Given the description of an element on the screen output the (x, y) to click on. 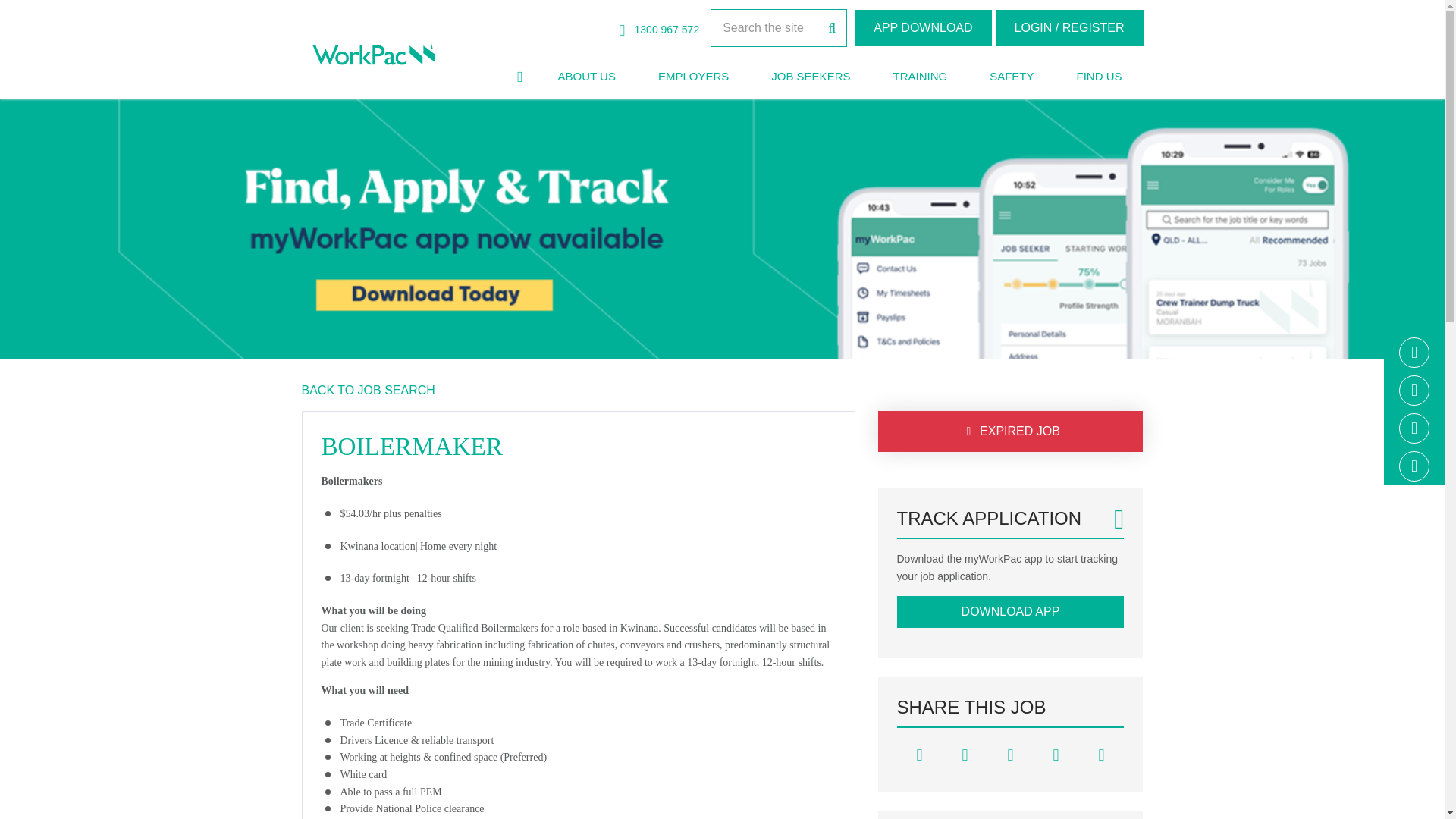
1300 967 572 (660, 29)
Dashboard (1068, 27)
JOB SEEKERS (809, 76)
EMPLOYERS (693, 76)
WorkPac Recruitment (373, 53)
APP DOWNLOAD (922, 27)
Dashboard (922, 27)
ABOUT US (585, 76)
